Given the description of an element on the screen output the (x, y) to click on. 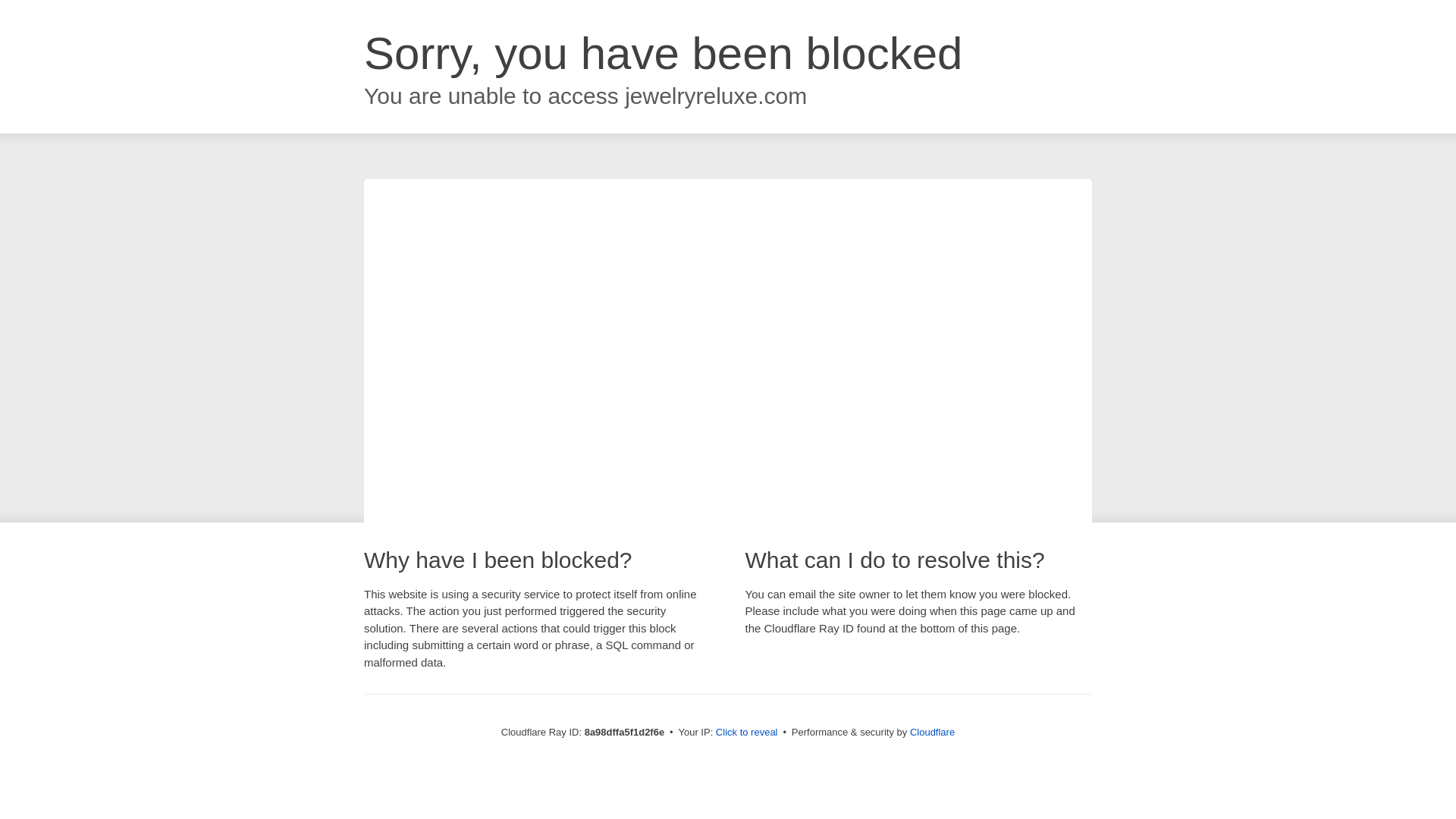
Click to reveal (746, 732)
Cloudflare (932, 731)
